Given the description of an element on the screen output the (x, y) to click on. 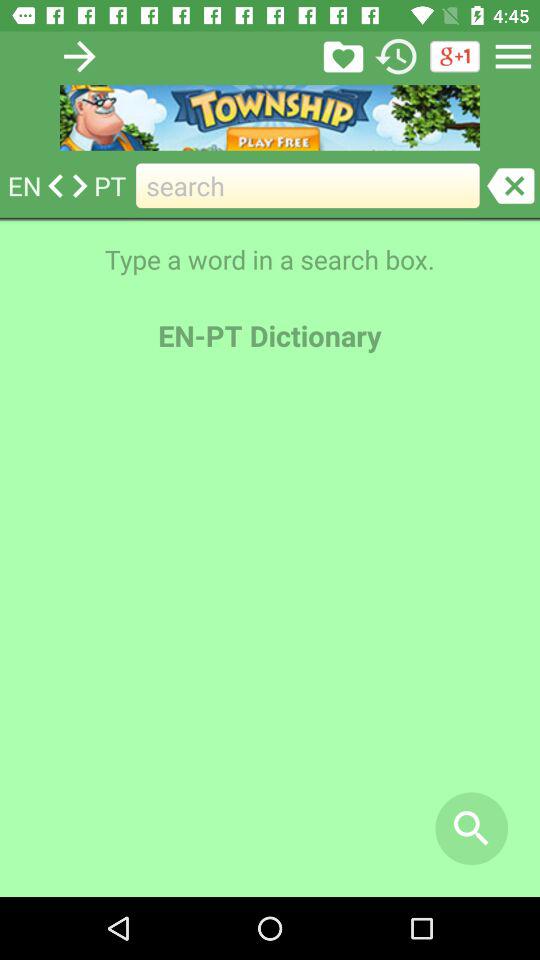
view history (396, 56)
